Given the description of an element on the screen output the (x, y) to click on. 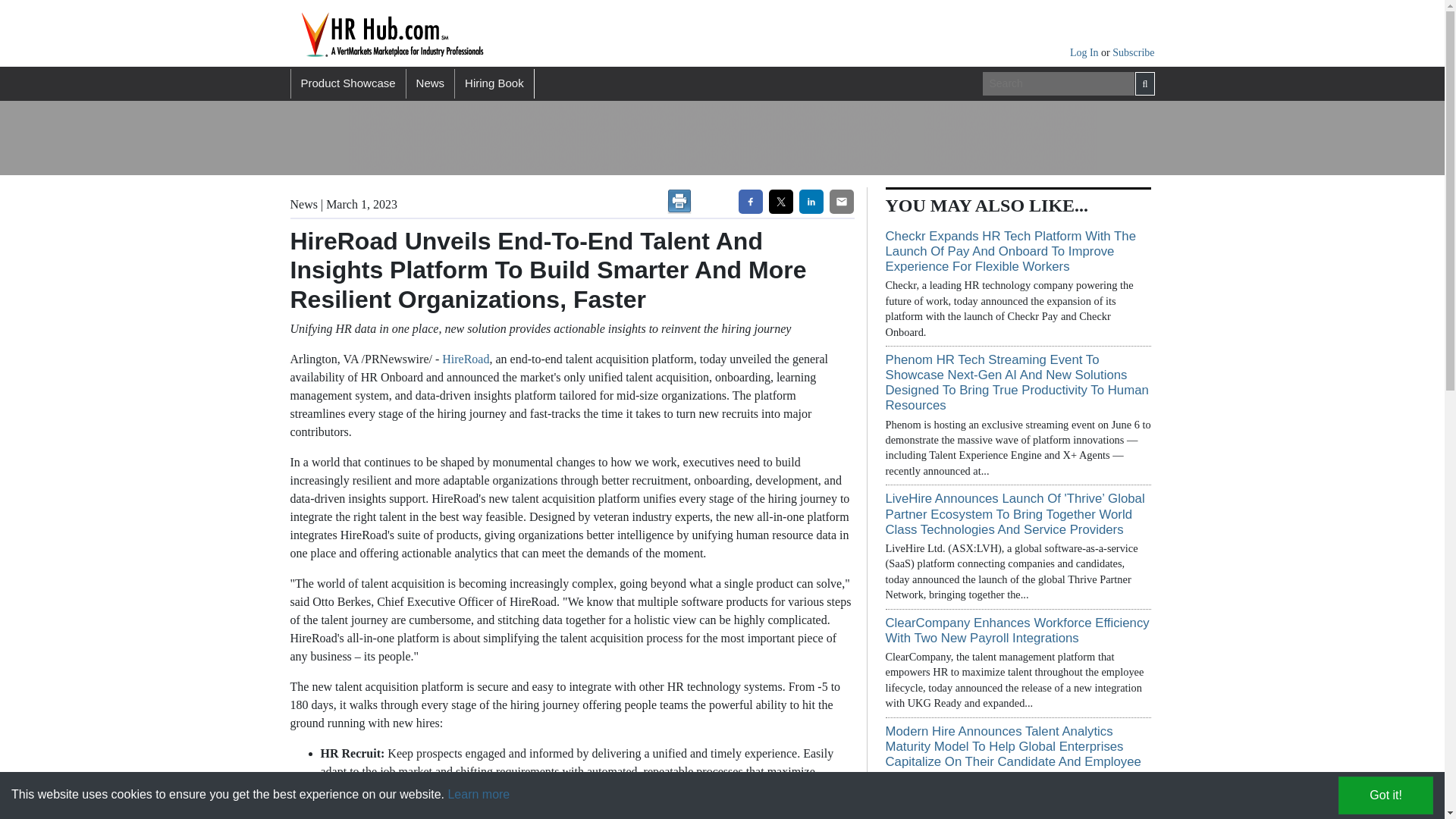
Learn more (477, 793)
News (430, 83)
3rd party ad content (1008, 137)
HireRoad (465, 358)
Got it! (1385, 795)
Product Showcase (346, 83)
Hiring Book (494, 83)
Log In (1085, 52)
